Given the description of an element on the screen output the (x, y) to click on. 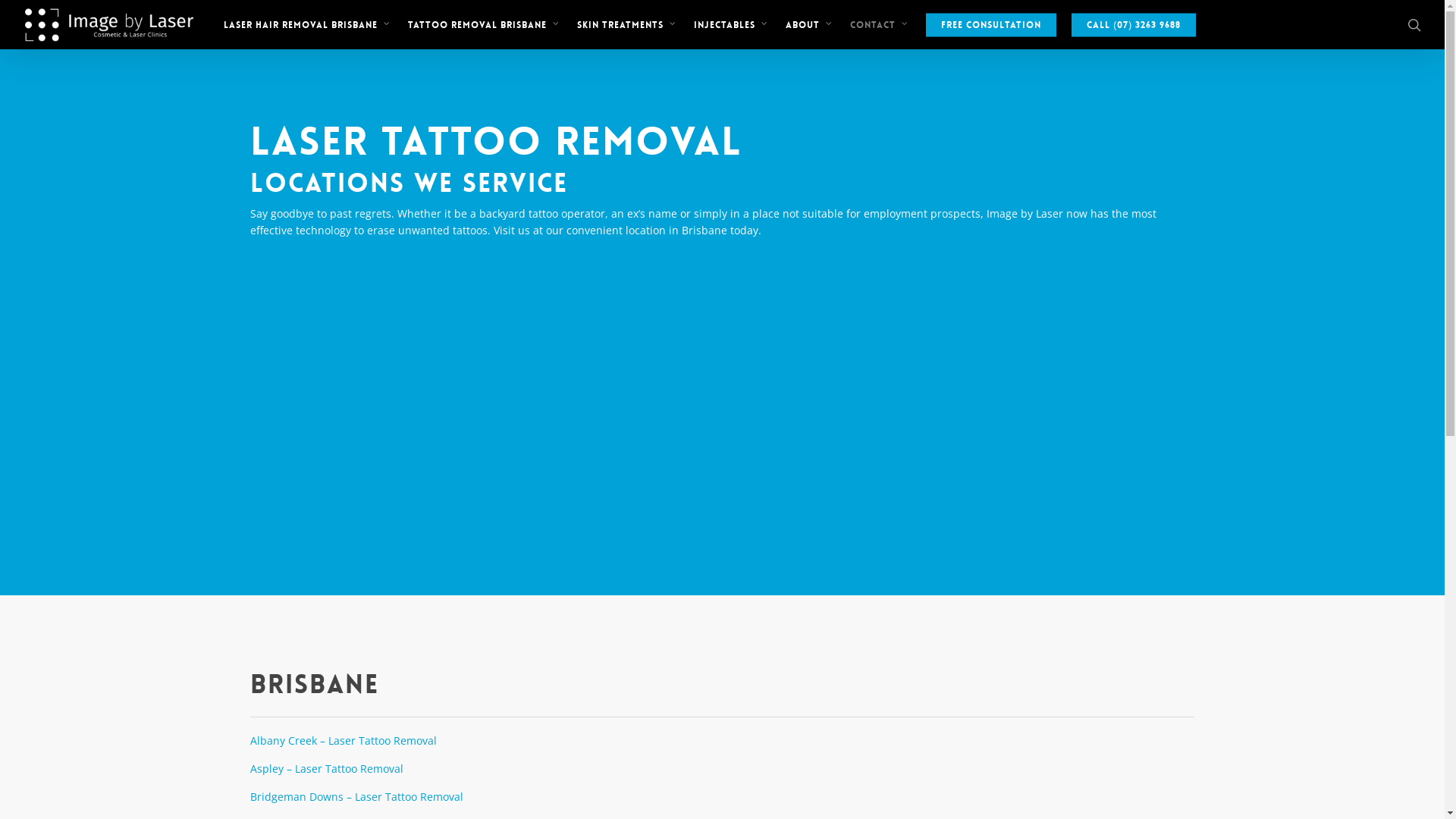
About Element type: text (810, 23)
search Element type: text (1414, 23)
Skin Treatments Element type: text (627, 23)
Injectables Element type: text (732, 23)
Tattoo Removal Brisbane Element type: text (484, 23)
FREE CONSULTATION Element type: text (990, 23)
Laser Hair Removal Brisbane Element type: text (308, 23)
Contact Element type: text (880, 23)
Call (07) 3263 9688 Element type: text (1133, 23)
